Given the description of an element on the screen output the (x, y) to click on. 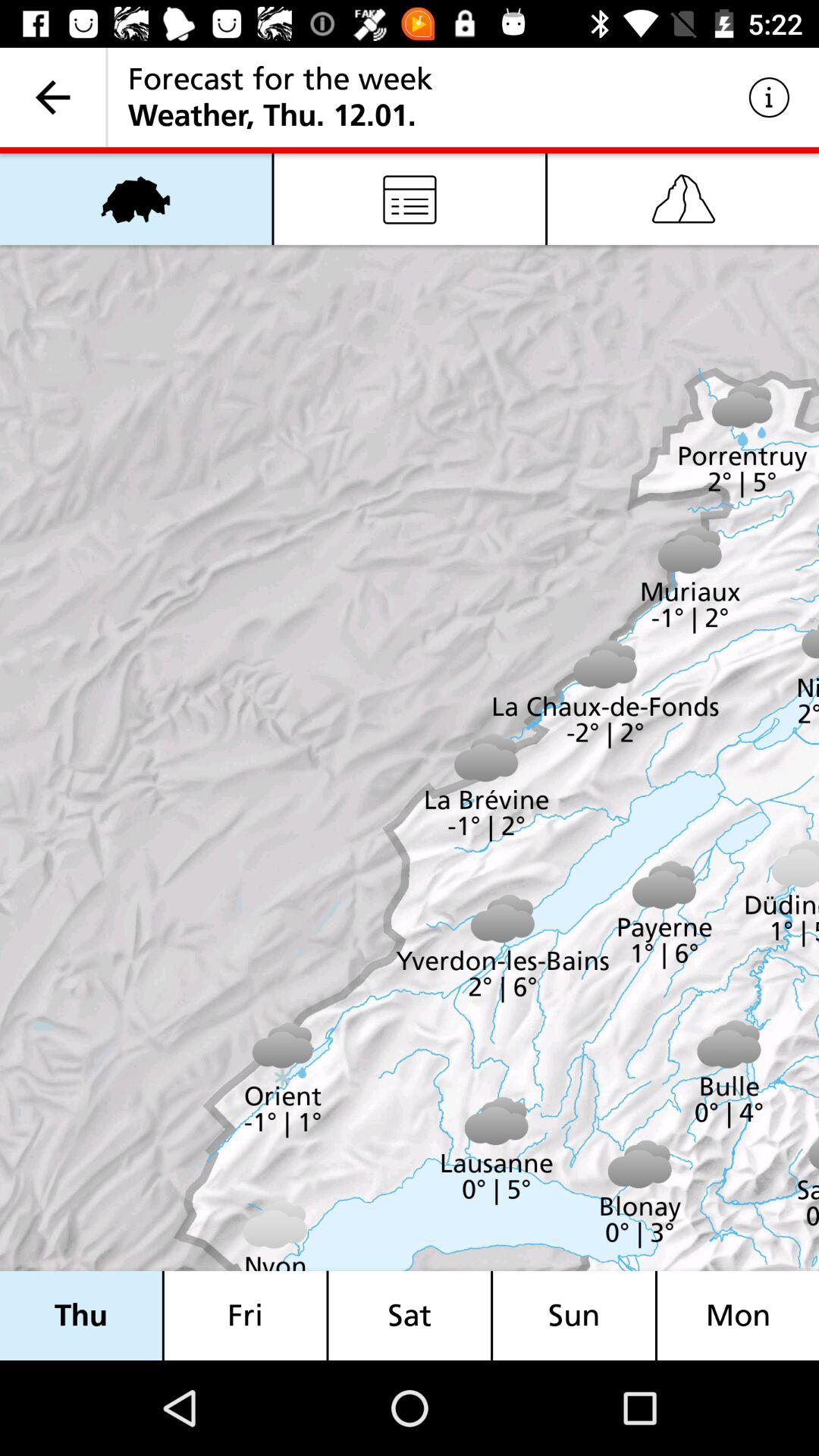
jump until the sun icon (574, 1315)
